Given the description of an element on the screen output the (x, y) to click on. 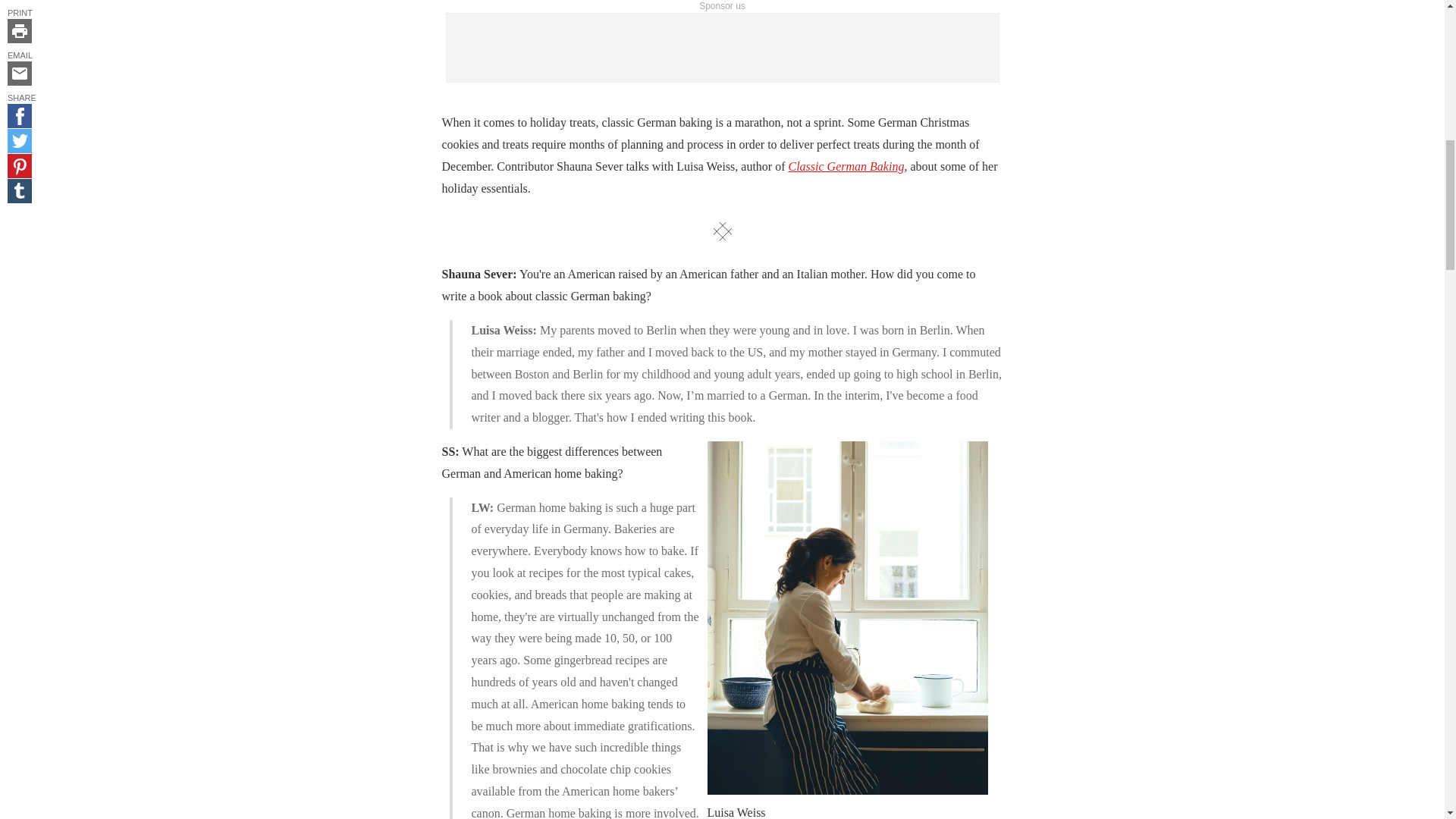
Sponsor us (721, 5)
Share on Tumblr (19, 191)
Share on Twitter (19, 140)
Email this (19, 73)
Pin it! (19, 165)
Classic German Baking (846, 165)
Share on Facebook (19, 115)
